Given the description of an element on the screen output the (x, y) to click on. 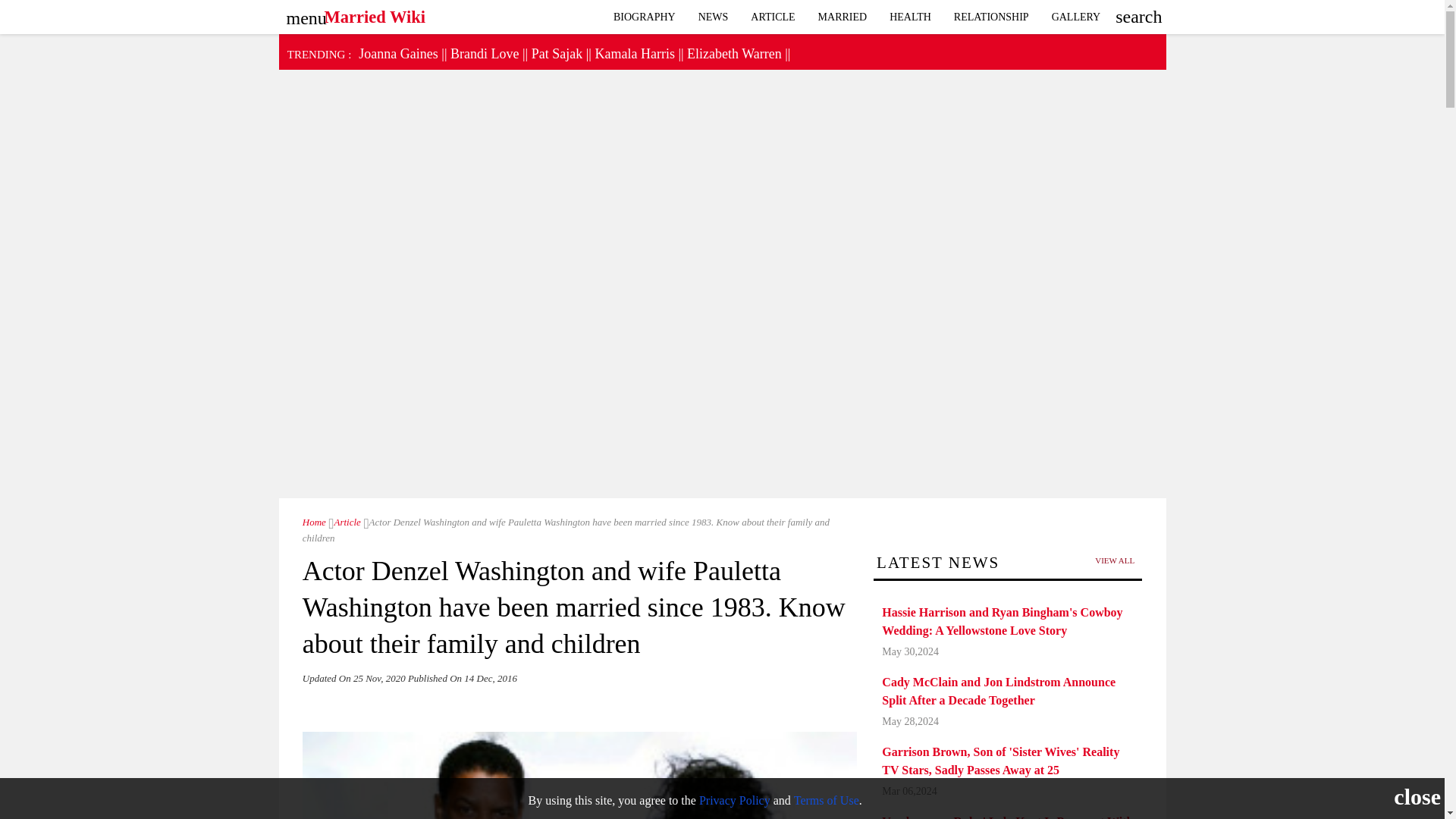
BIOGRAPHY (644, 17)
Lifestyle (909, 17)
Brandi Love (483, 53)
Pat Sajak (557, 53)
Privacy Policy (734, 799)
Married Wiki (314, 521)
ARTICLE (772, 17)
Home (314, 521)
Kamala Harris (634, 53)
MARRIED (842, 17)
Joanna Gaines (398, 53)
menu (302, 13)
relationship (1076, 17)
Terms of Use (826, 799)
RELATIONSHIP (991, 17)
